Given the description of an element on the screen output the (x, y) to click on. 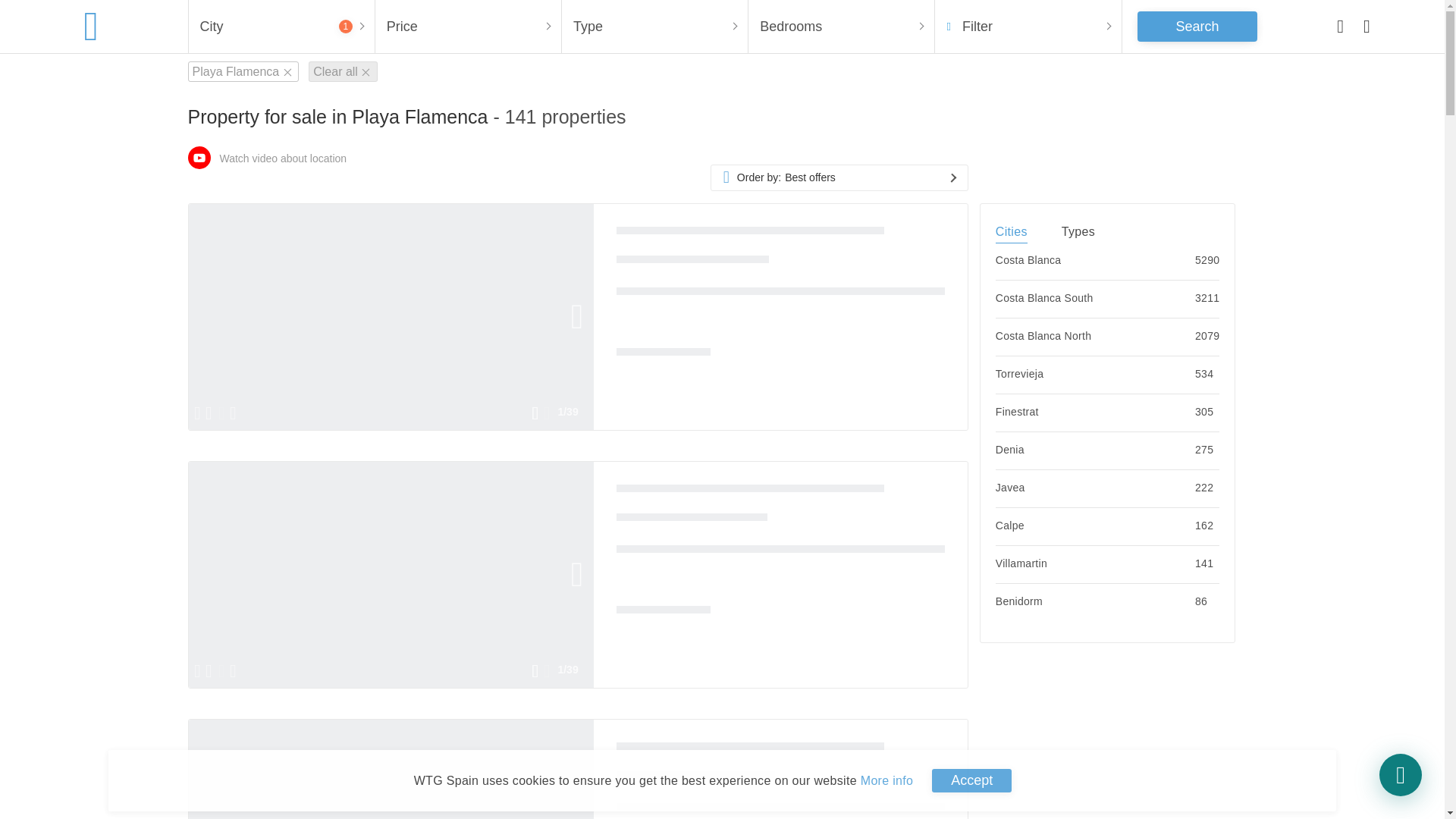
Penthouse in Playa Flamenca (749, 751)
Penthouse in Playa Flamenca (749, 235)
Apartments in Playa Flamenca (749, 493)
